Given the description of an element on the screen output the (x, y) to click on. 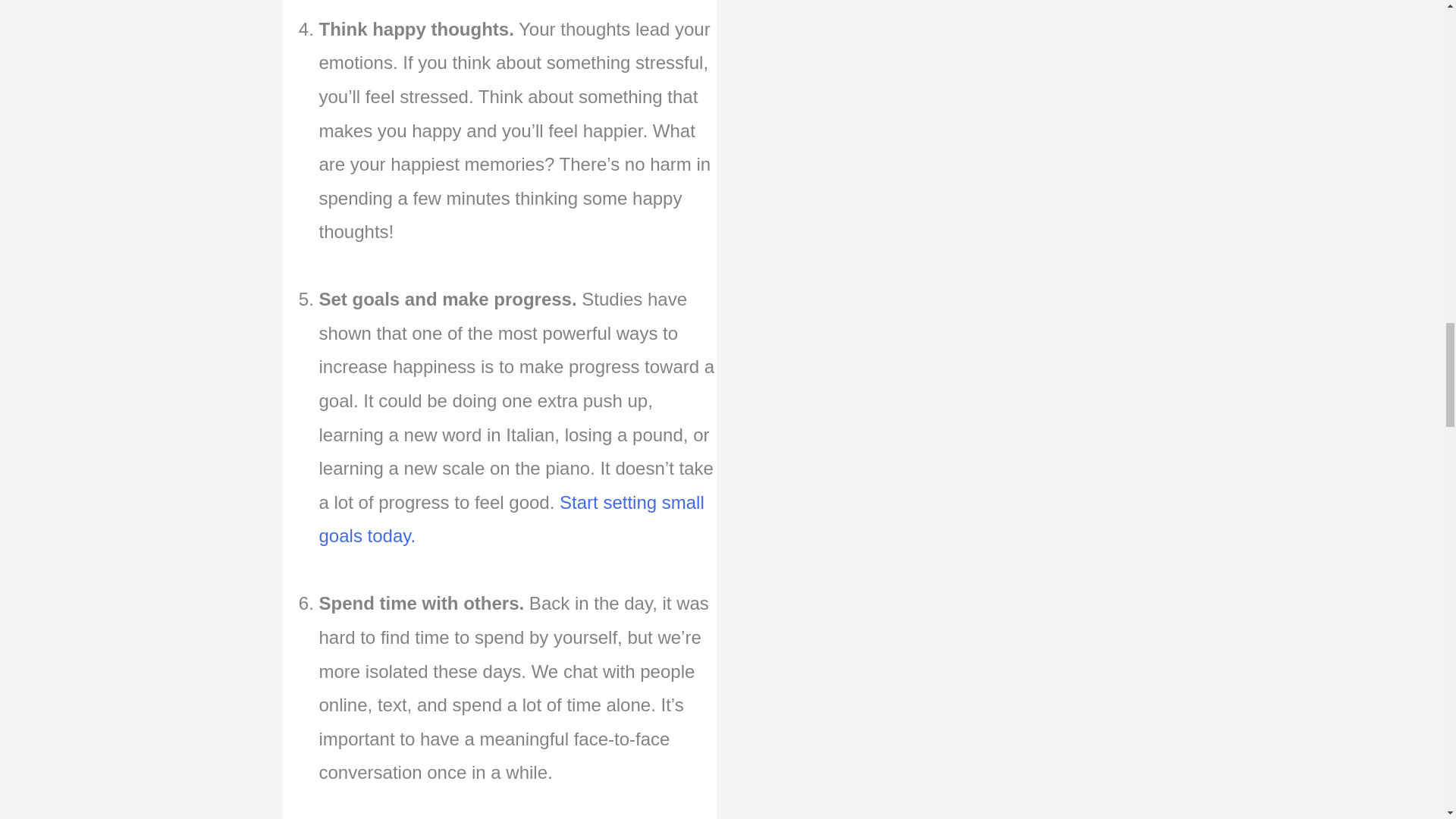
Start setting small goals today. (510, 519)
